Given the description of an element on the screen output the (x, y) to click on. 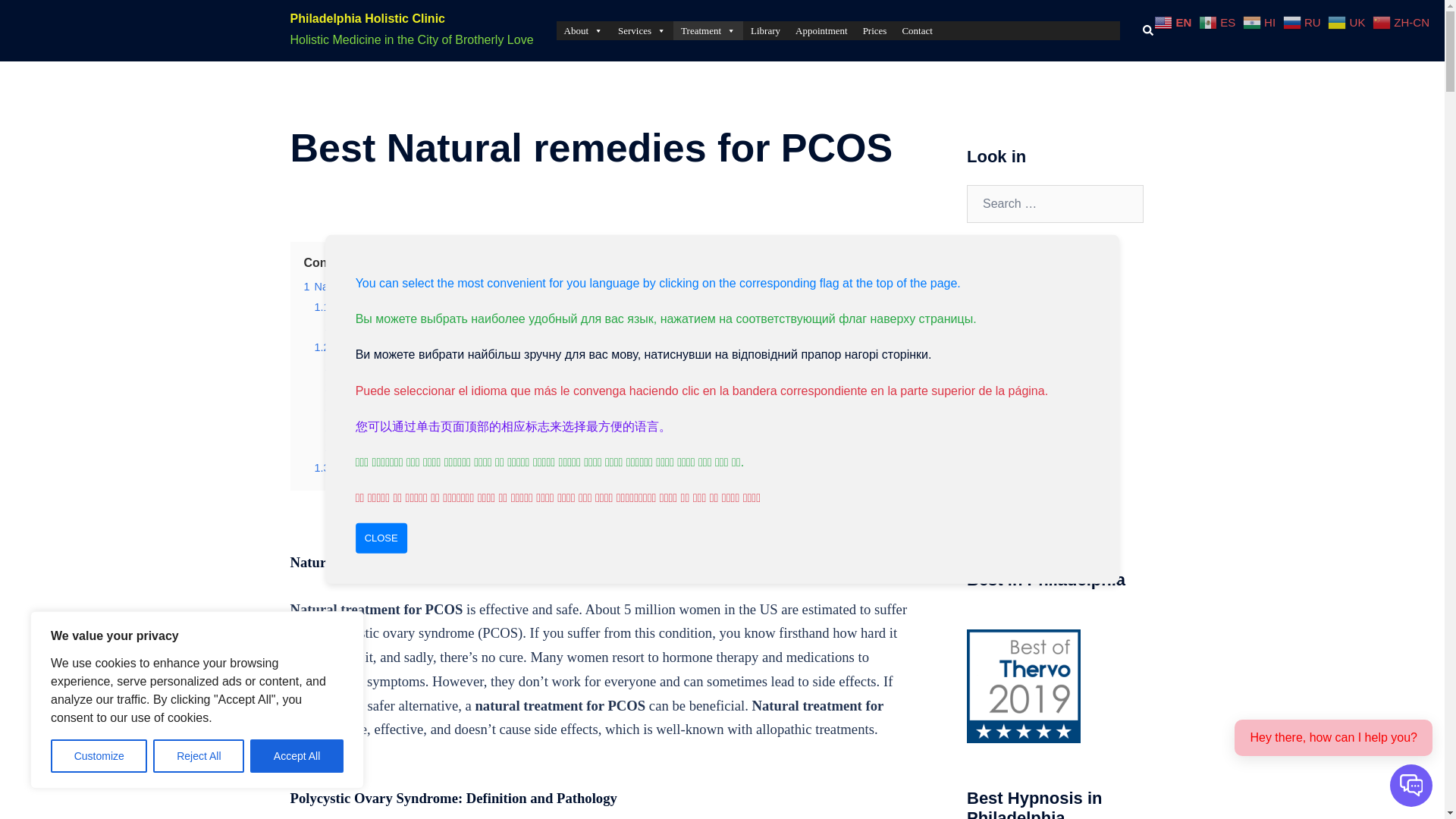
CLOSE (381, 538)
Services (641, 30)
About (583, 30)
Philadelphia Holistic Clinic (366, 18)
Customize (98, 756)
English (1174, 21)
Accept All (296, 756)
Reject All (198, 756)
